Given the description of an element on the screen output the (x, y) to click on. 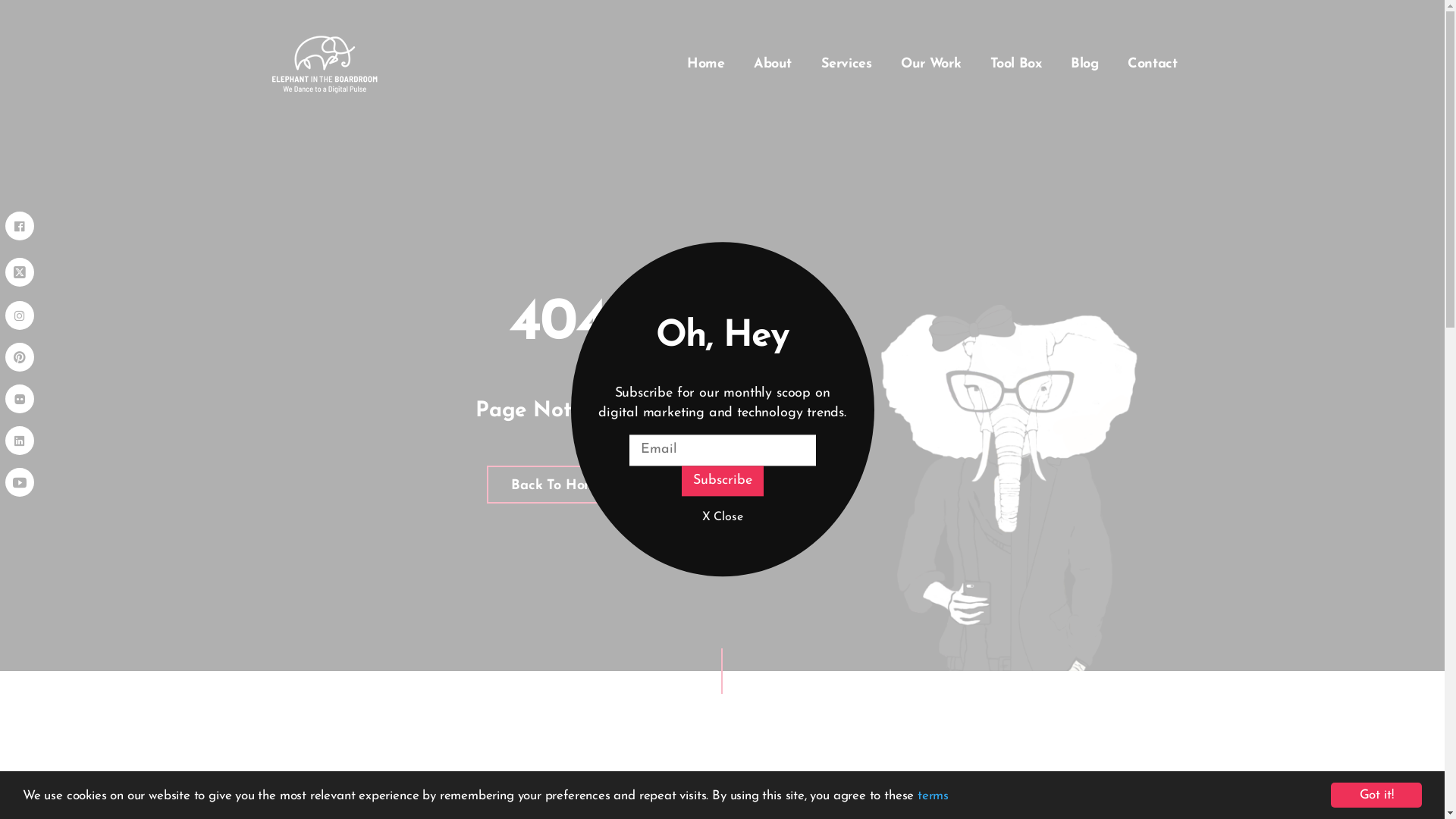
Got it! Element type: text (1375, 794)
Services Element type: text (846, 63)
Tool Box Element type: text (1015, 63)
X Close Element type: text (722, 517)
Home Element type: text (705, 63)
About Element type: text (772, 63)
Subscribe Element type: text (721, 480)
Back To Home Element type: text (556, 484)
terms Element type: text (932, 794)
Contact Element type: text (1151, 63)
Our Work Element type: text (930, 63)
Blog Element type: text (1084, 63)
